Given the description of an element on the screen output the (x, y) to click on. 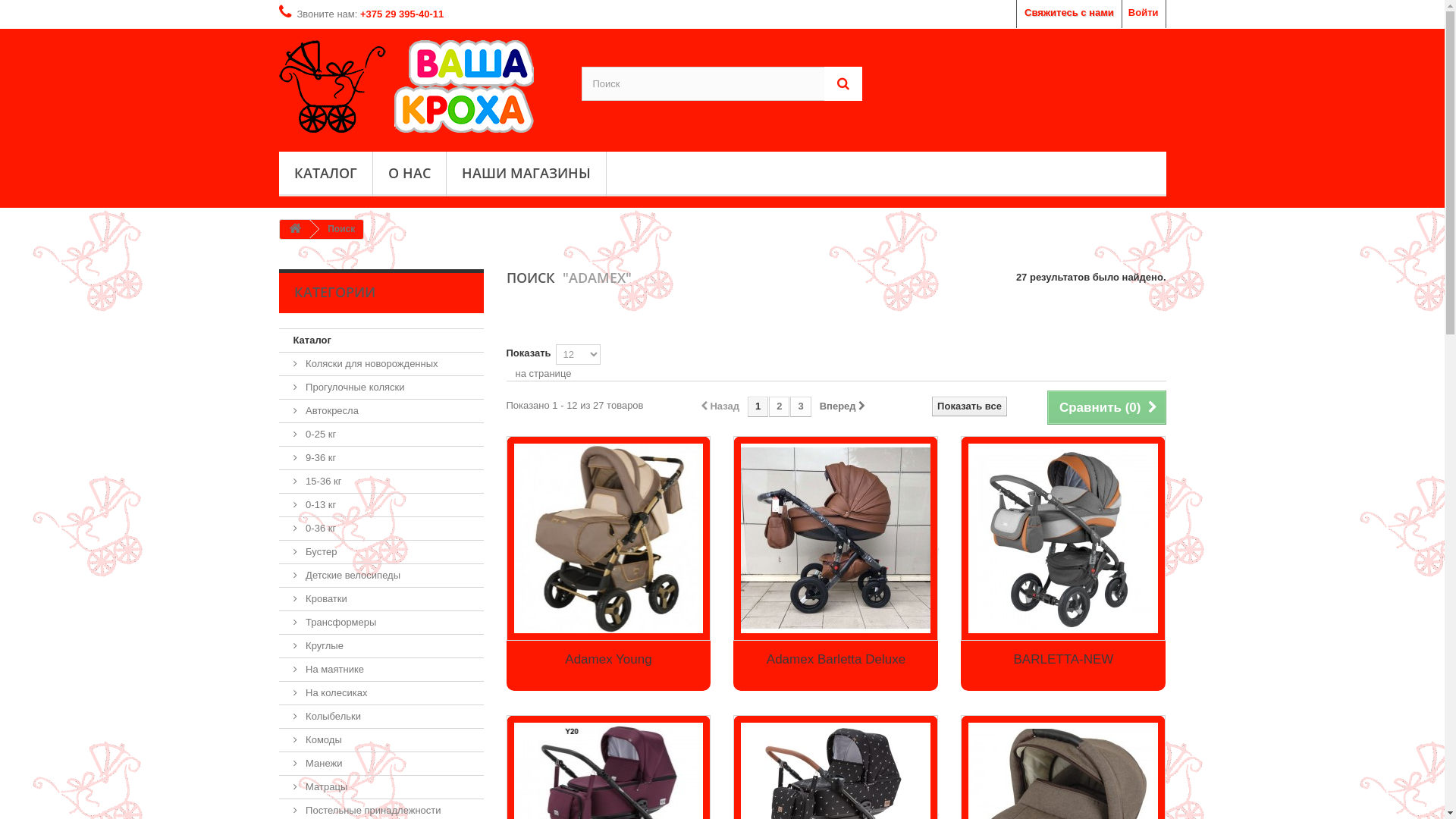
BARLETTA-NEW Element type: hover (1062, 538)
Adamex Young Element type: text (608, 659)
BARLETTA-NEW Element type: text (1063, 659)
Adamex Barletta Deluxe Element type: hover (835, 538)
3 Element type: text (800, 406)
Adamex Young Element type: hover (608, 538)
Vashakroha Element type: hover (419, 86)
2 Element type: text (778, 406)
Adamex Barletta Deluxe Element type: text (835, 659)
